Given the description of an element on the screen output the (x, y) to click on. 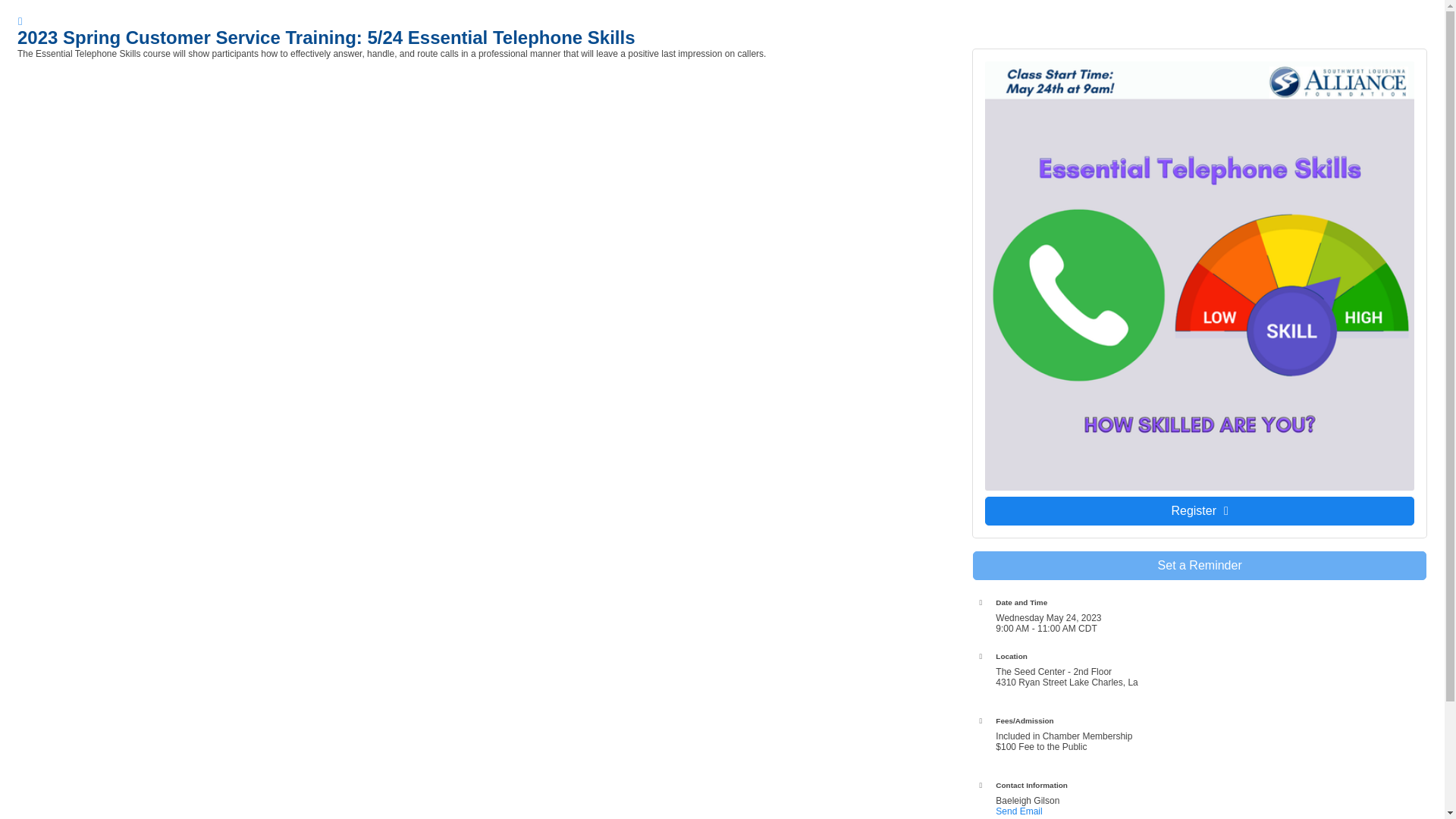
Set a Reminder (1199, 565)
Register (1199, 510)
Send Email (1018, 810)
